Given the description of an element on the screen output the (x, y) to click on. 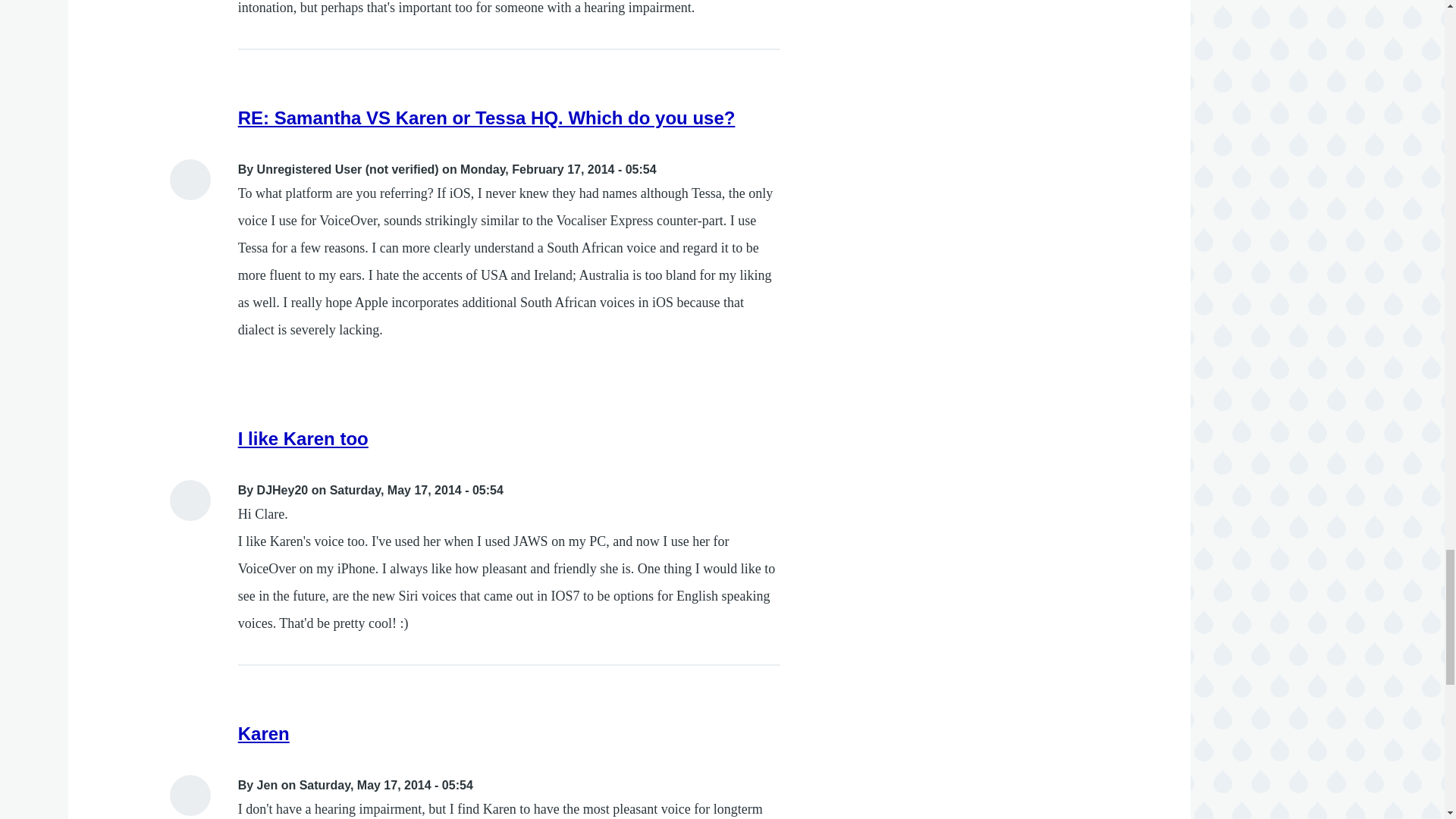
Karen (263, 733)
I like Karen too (303, 438)
RE: Samantha VS Karen or Tessa HQ. Which do you use? (486, 117)
